Given the description of an element on the screen output the (x, y) to click on. 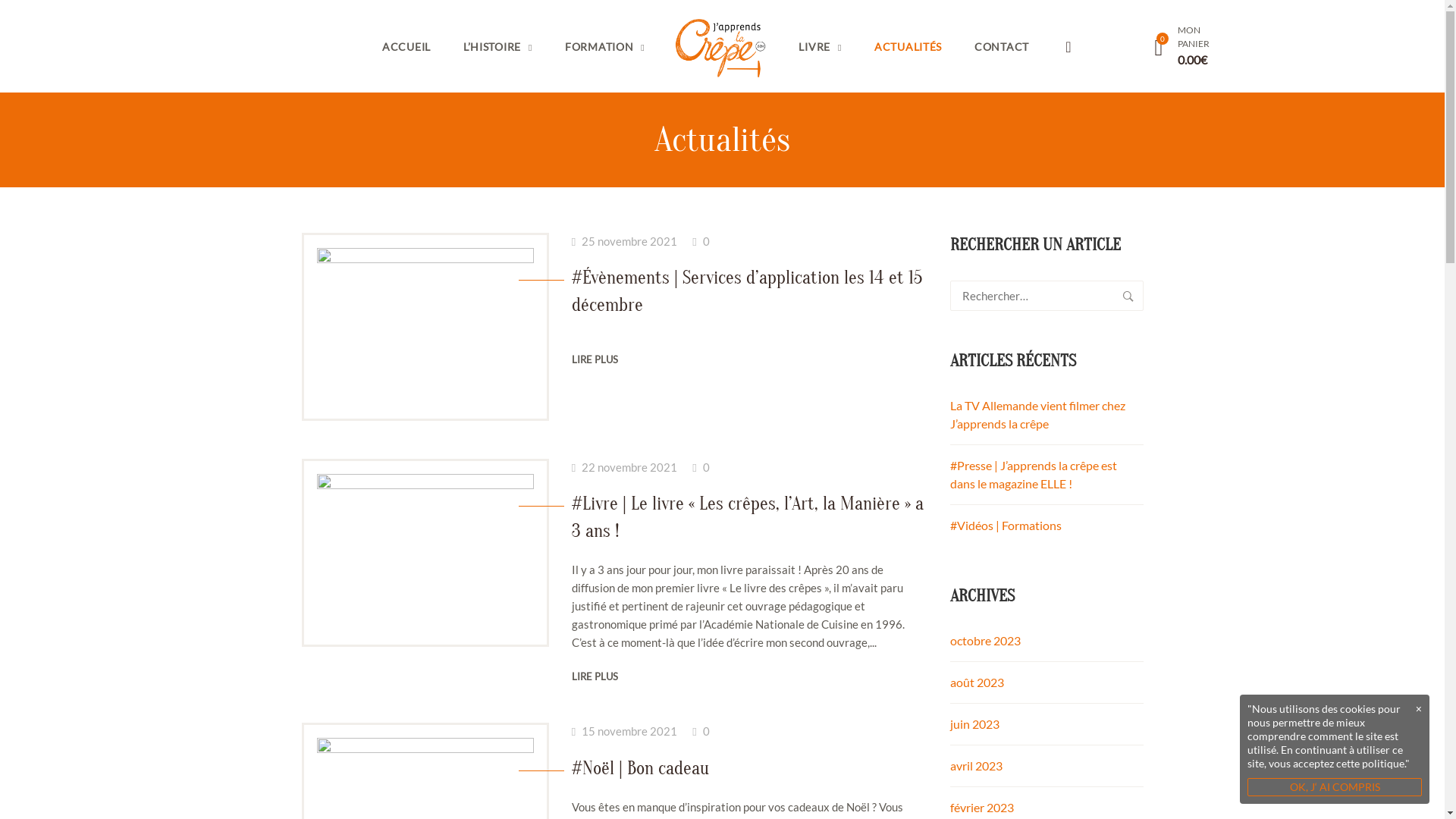
LIRE PLUS Element type: text (594, 359)
juin 2023 Element type: text (973, 722)
FORMATION Element type: text (604, 46)
LIVRE Element type: text (819, 46)
Rechercher Element type: text (1128, 295)
CONTACT Element type: text (1001, 46)
octobre 2023 Element type: text (984, 639)
avril 2023 Element type: text (975, 765)
LIRE PLUS Element type: text (594, 676)
ACCUEIL Element type: text (406, 46)
